Given the description of an element on the screen output the (x, y) to click on. 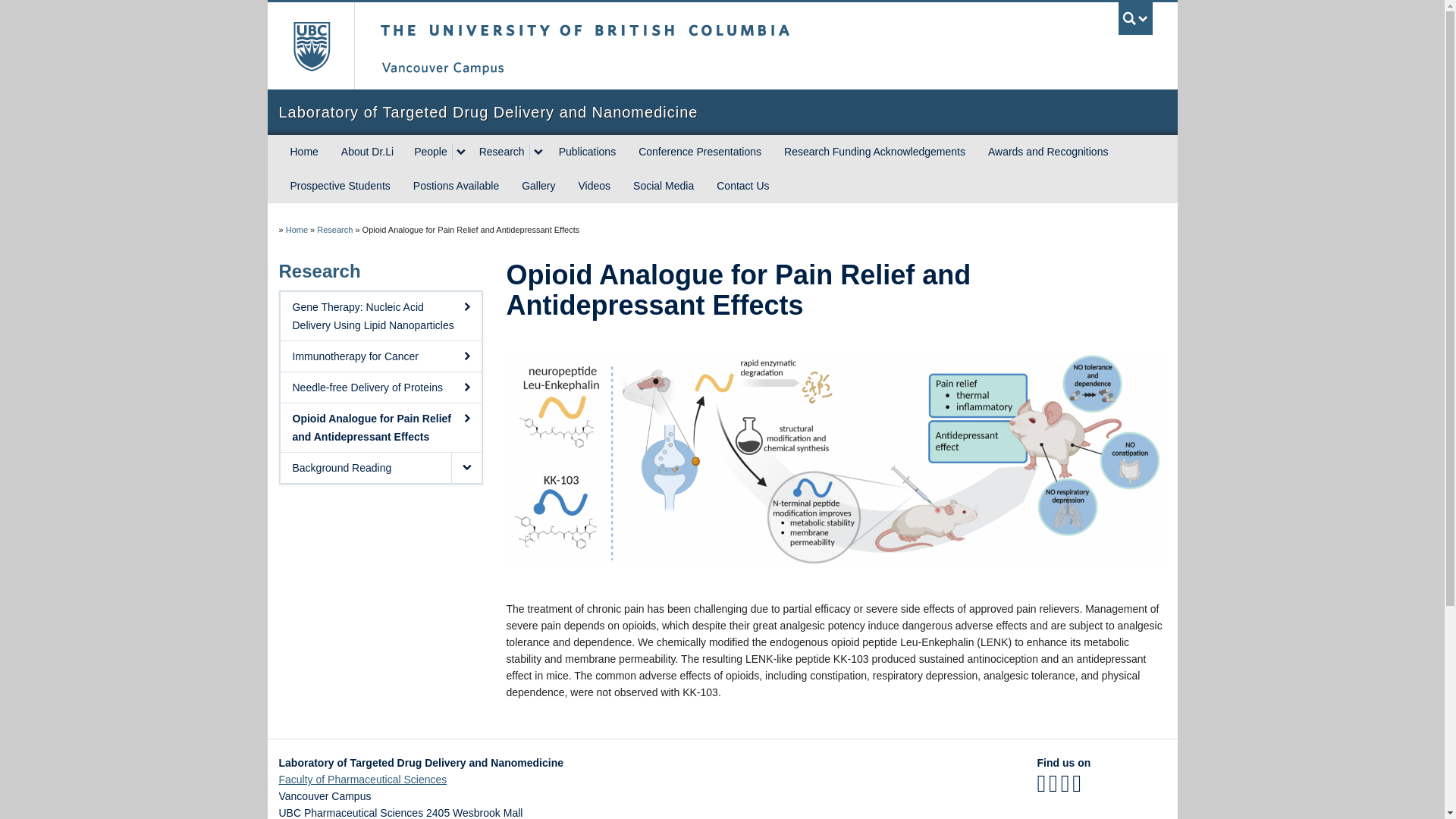
Home (304, 151)
Laboratory of Targeted Drug Delivery and Nanomedicine (722, 112)
The University of British Columbia (635, 45)
Laboratory of Targeted Drug Delivery and Nanomedicine (296, 229)
People (428, 151)
Laboratory of Targeted Drug Delivery and Nanomedicine (722, 112)
Research (499, 151)
About Dr.Li (367, 151)
UBC Search (1135, 18)
The University of British Columbia (309, 45)
Research (334, 229)
